Given the description of an element on the screen output the (x, y) to click on. 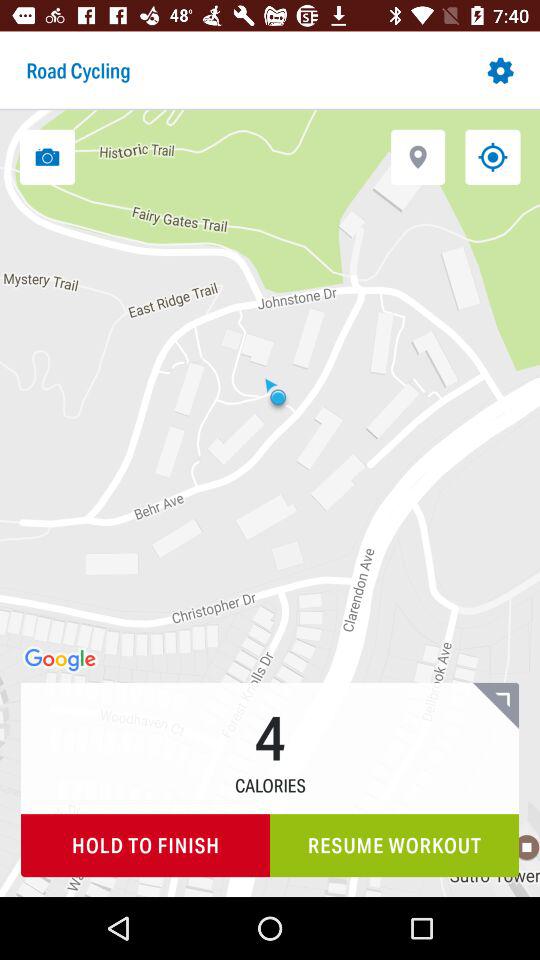
turn on hold to finish icon (145, 845)
